Given the description of an element on the screen output the (x, y) to click on. 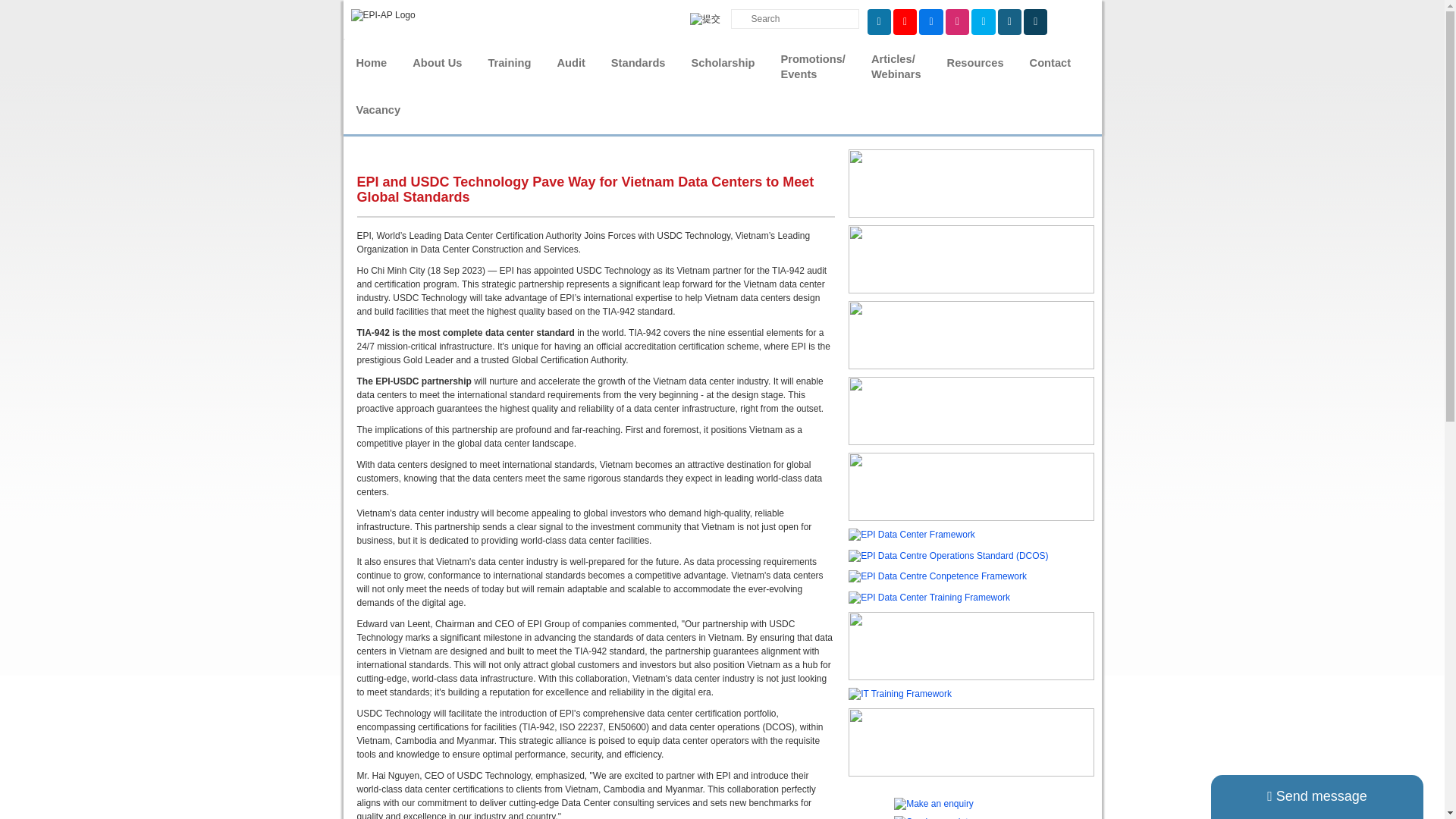
Subscribe to our Youtube (905, 22)
Follow us on Twitter (982, 22)
Send me updates (934, 817)
Follow us on Instagram (956, 22)
Home (370, 63)
Email us (1009, 22)
Make an enquiry (933, 803)
Follow up on Facebook (930, 22)
Training (508, 63)
Follow us on Linkedin (879, 22)
Subscribe for updates (1034, 22)
Audit (569, 63)
About Us (437, 63)
